Given the description of an element on the screen output the (x, y) to click on. 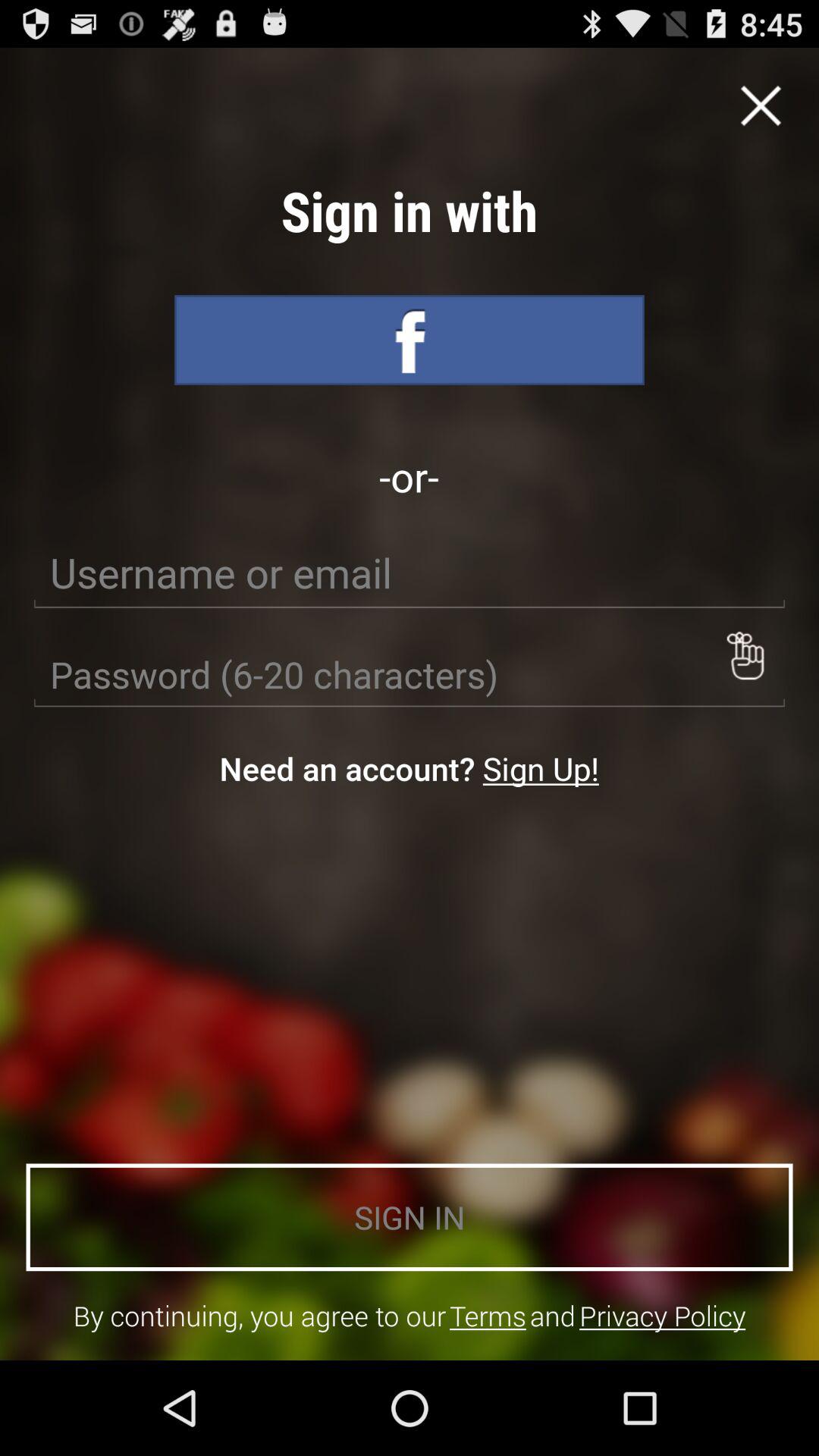
password field (409, 674)
